Given the description of an element on the screen output the (x, y) to click on. 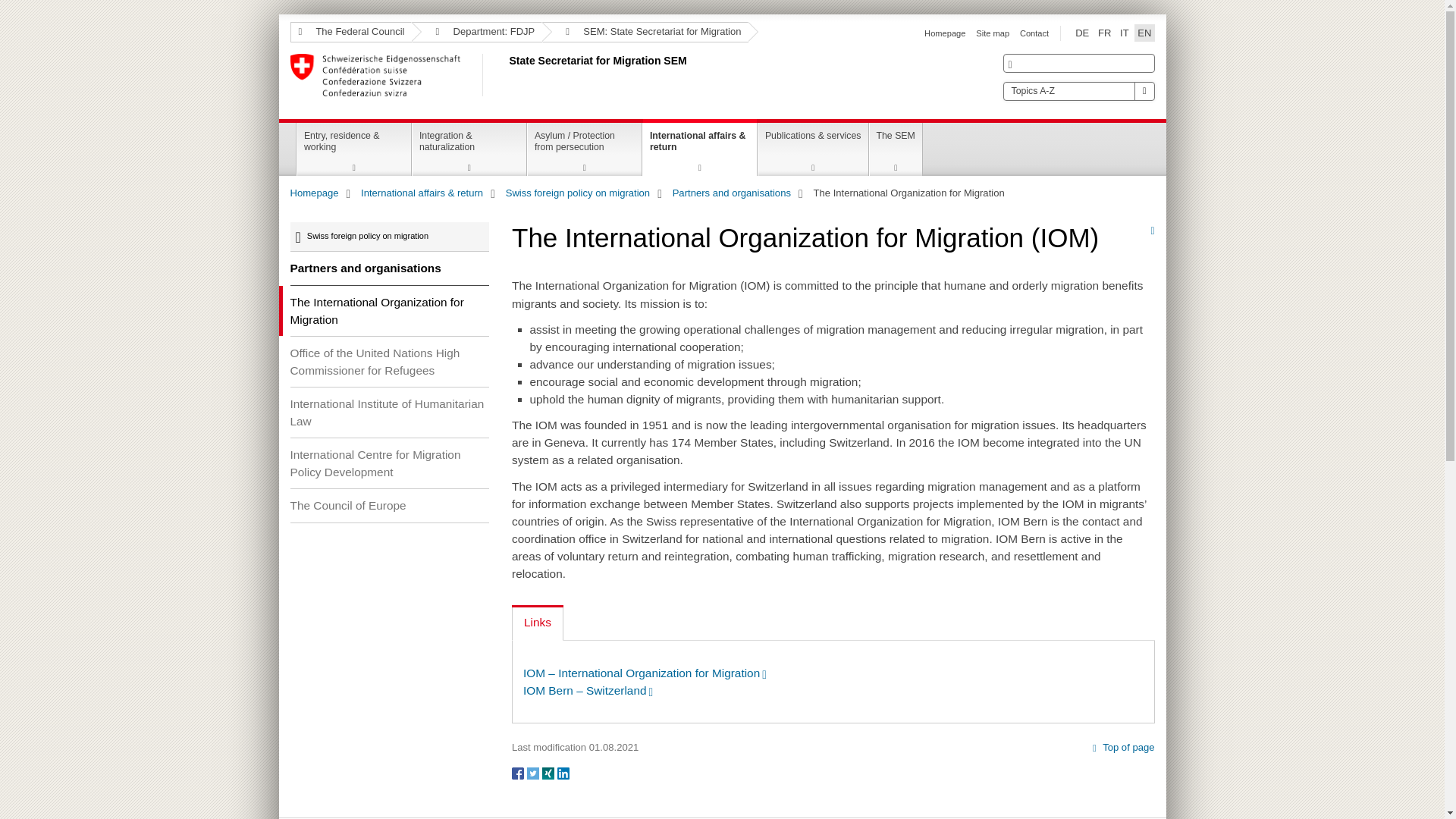
EN (1144, 32)
Contact (1034, 32)
Site map (992, 32)
State Secretariat for Migration SEM (505, 75)
FR (1103, 32)
The Federal Council (350, 32)
Department: FDJP (476, 32)
DE (1081, 32)
Homepage (944, 32)
SEM: State Secretariat for Migration (644, 32)
